Given the description of an element on the screen output the (x, y) to click on. 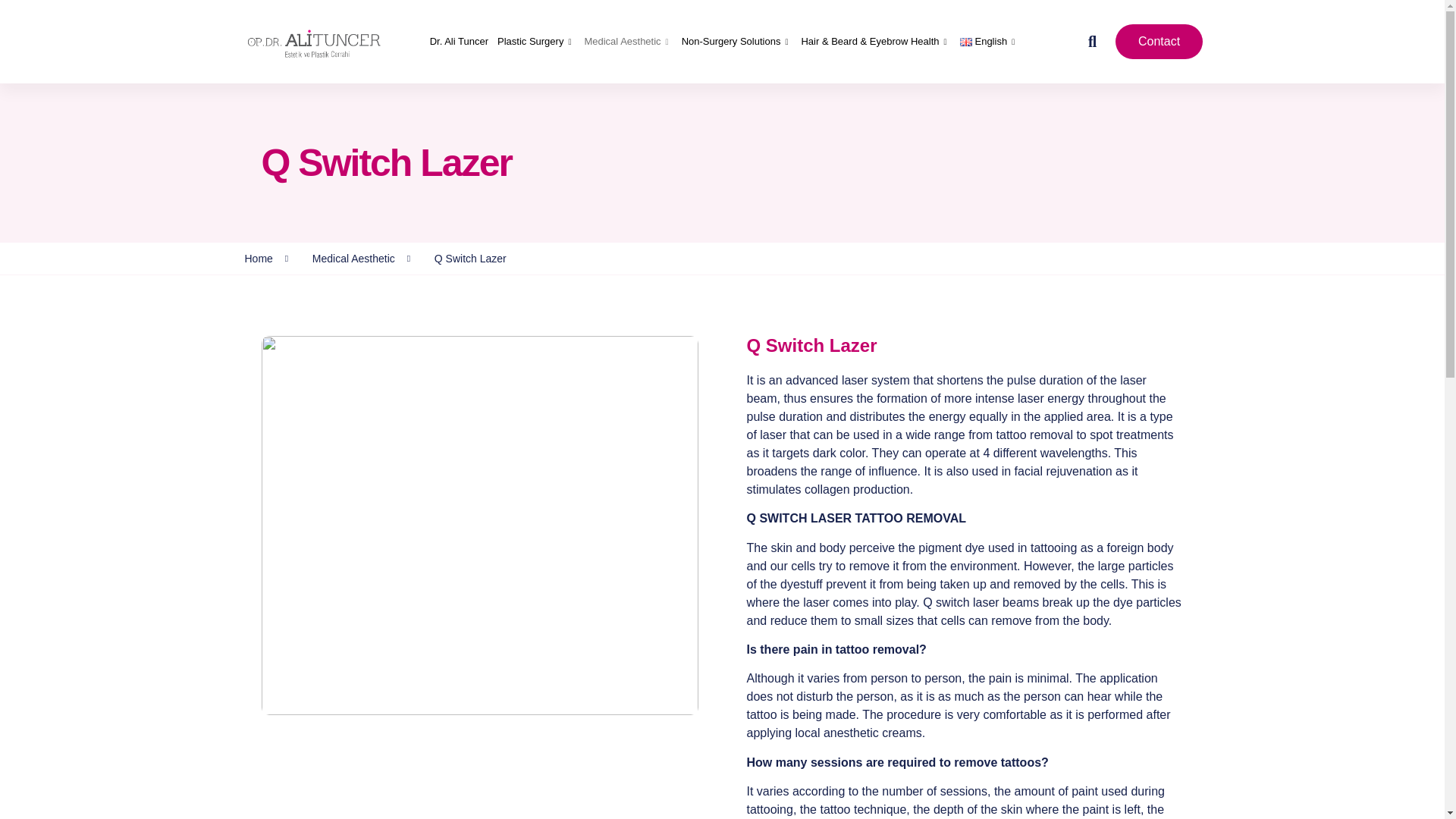
Medical Aesthetic (632, 41)
Plastic Surgery (540, 41)
Dr. Ali Tuncer (463, 41)
Non-Surgery Solutions (741, 41)
